Given the description of an element on the screen output the (x, y) to click on. 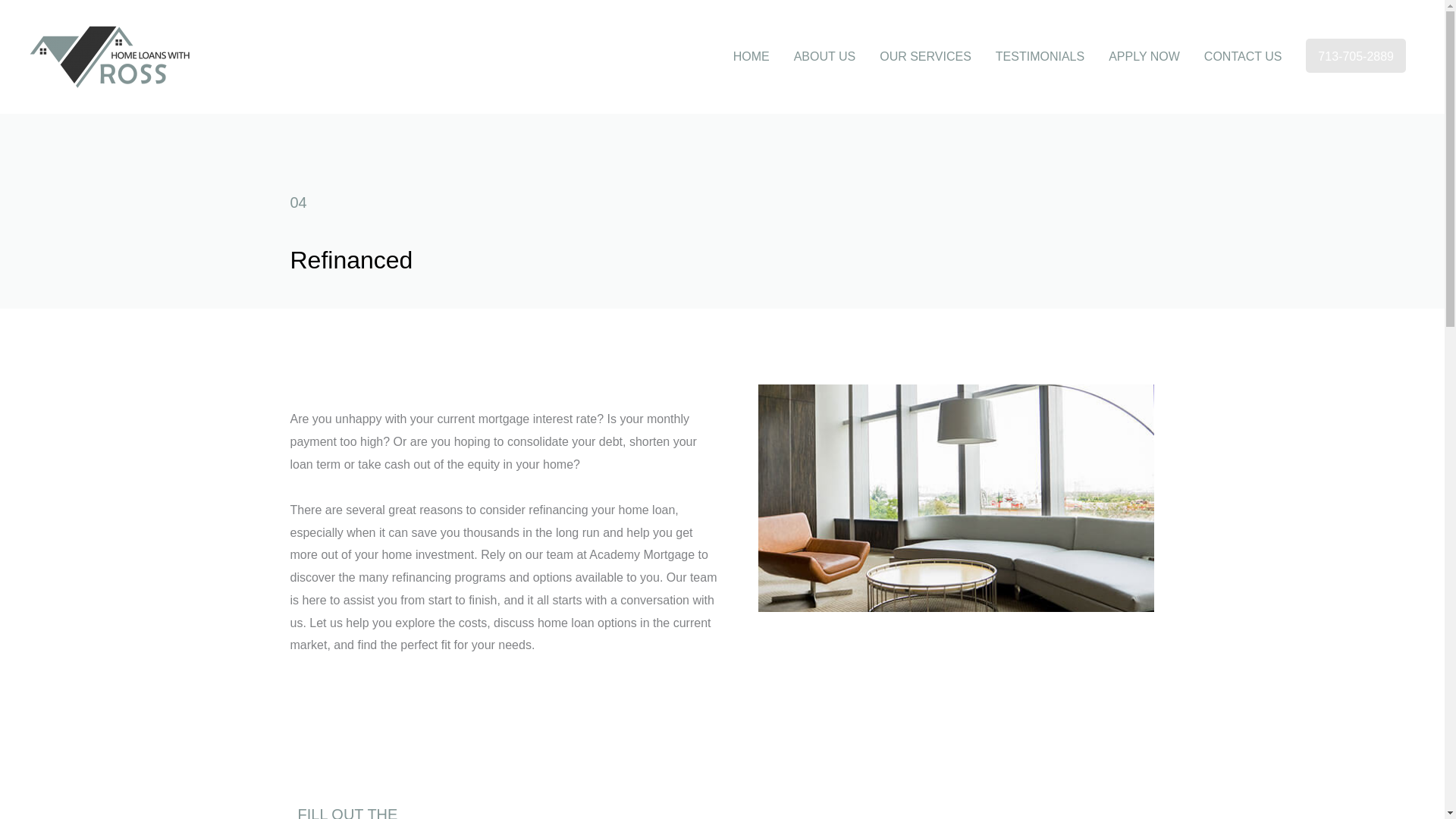
713-705-2889 (1356, 55)
713-705-2889 (1356, 56)
CONTACT US (1243, 56)
HOME (750, 56)
OUR SERVICES (925, 56)
ABOUT US (824, 56)
APPLY NOW (1144, 56)
TESTIMONIALS (1040, 56)
